Given the description of an element on the screen output the (x, y) to click on. 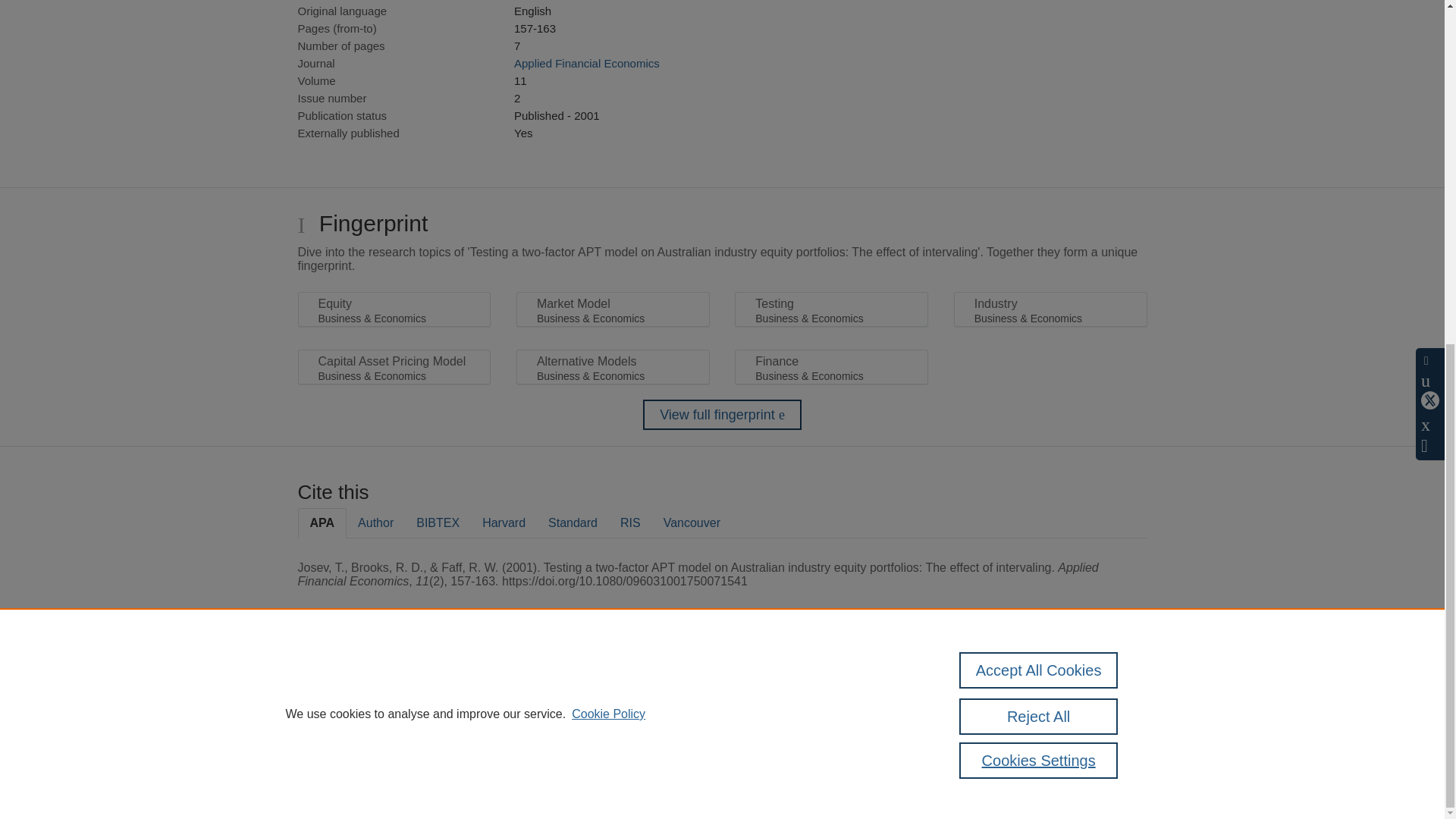
Applied Financial Economics (586, 62)
View full fingerprint (722, 414)
Pure (362, 686)
Elsevier B.V. (506, 707)
Scopus (394, 686)
